Given the description of an element on the screen output the (x, y) to click on. 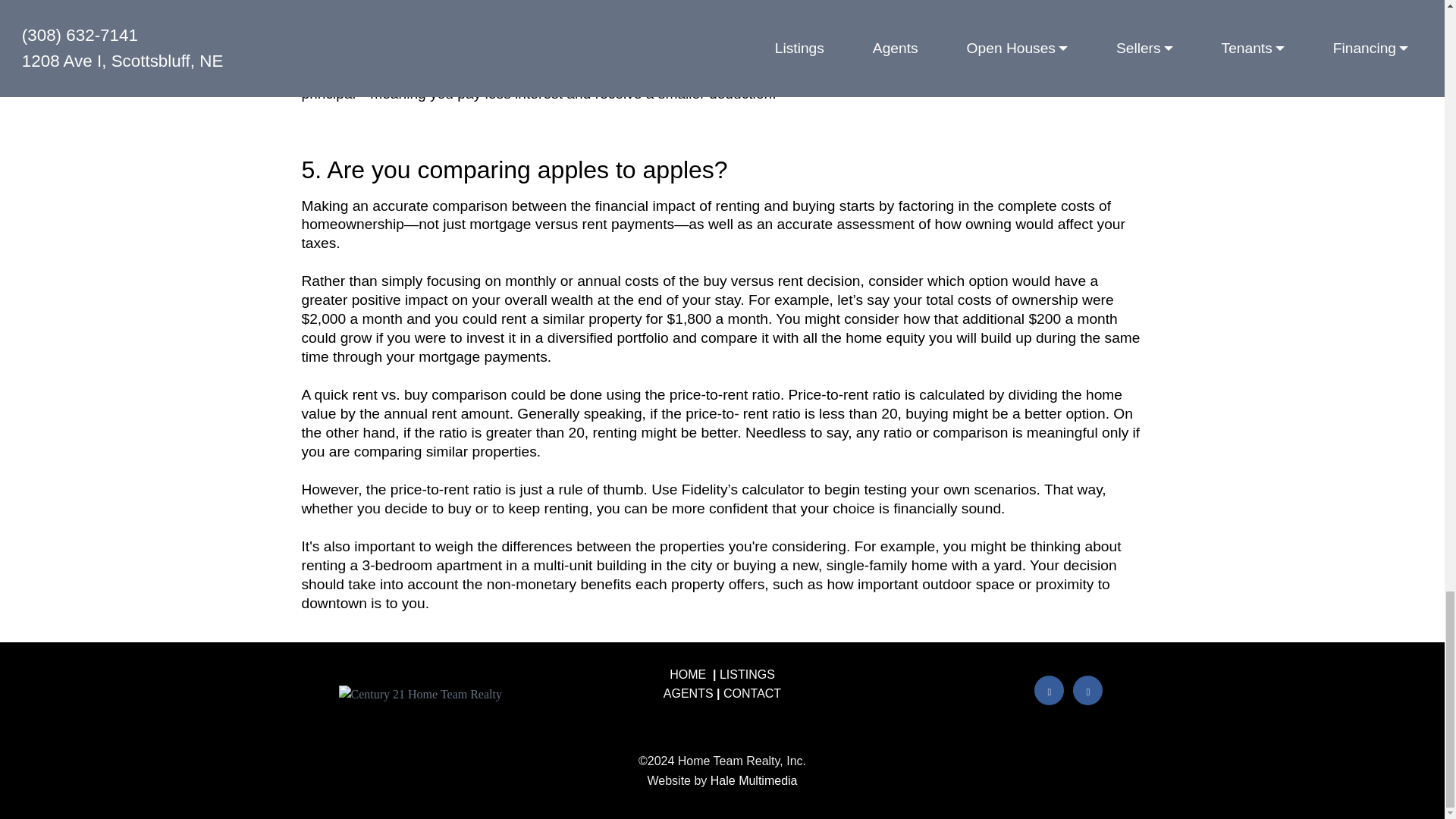
CONTACT (751, 693)
HOME (687, 674)
Hale Multimedia (753, 780)
AGENTS (688, 693)
LISTINGS (746, 674)
